Given the description of an element on the screen output the (x, y) to click on. 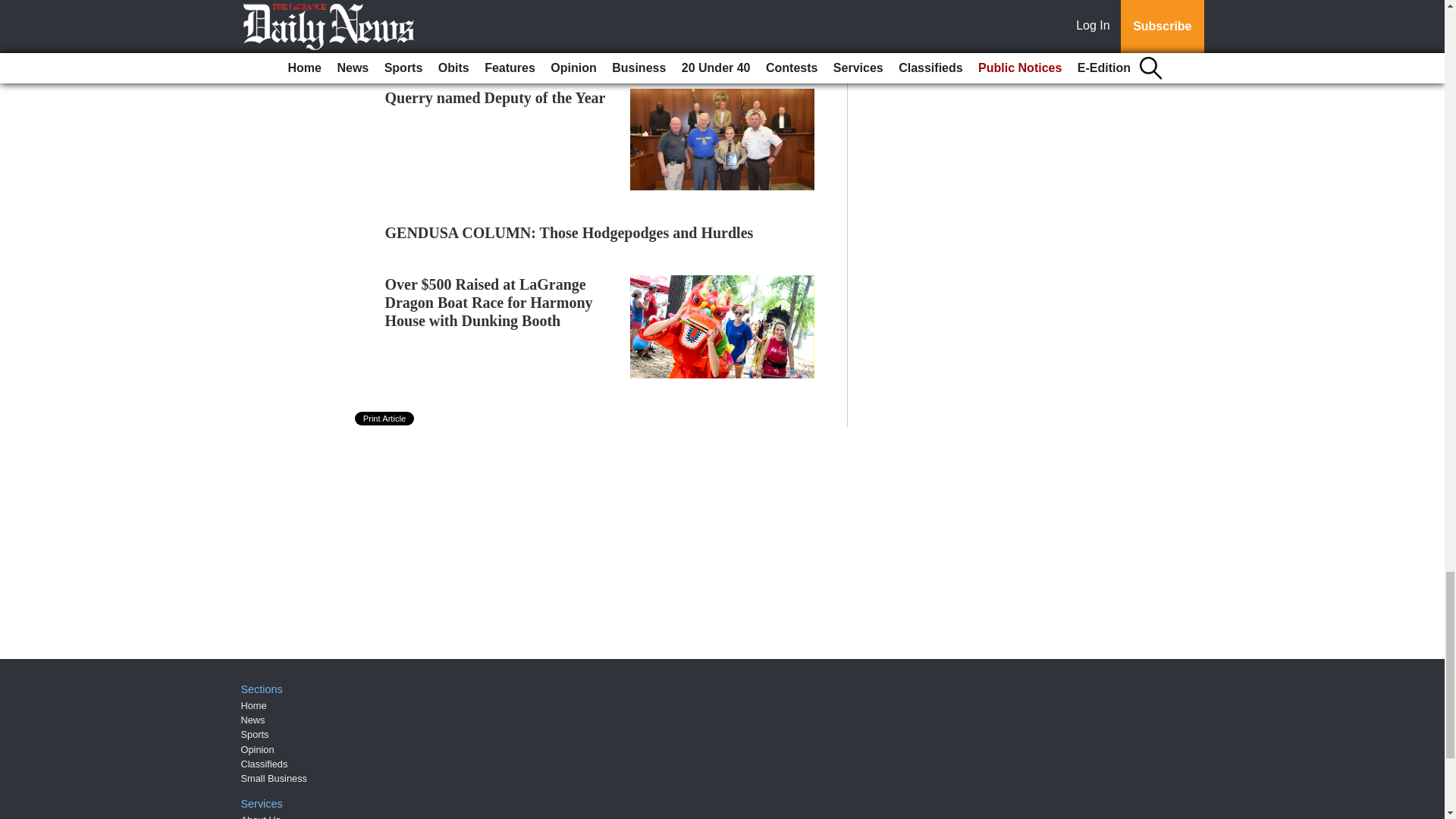
Home (253, 705)
Querry named Deputy of the Year (495, 97)
GENDUSA COLUMN: Those Hodgepodges and Hurdles (569, 232)
Print Article (384, 418)
GENDUSA COLUMN: Those Hodgepodges and Hurdles (569, 232)
Querry named Deputy of the Year (495, 97)
